Given the description of an element on the screen output the (x, y) to click on. 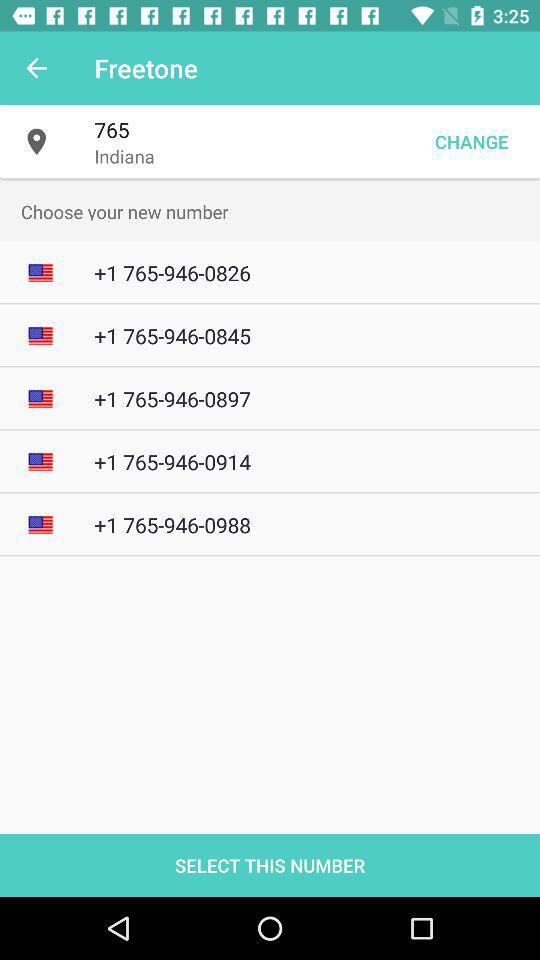
press item next to the freetone (36, 68)
